Given the description of an element on the screen output the (x, y) to click on. 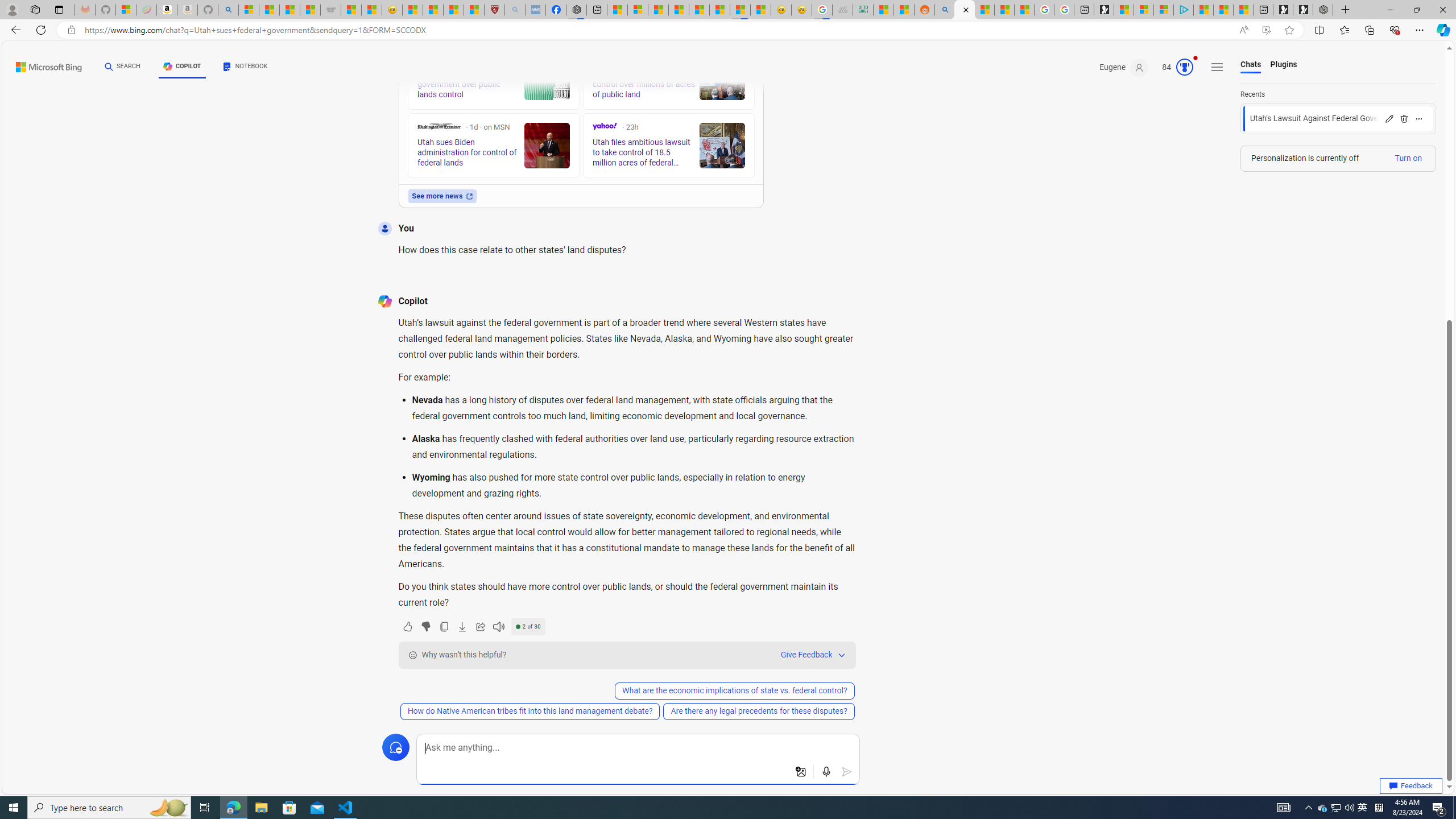
AutomationID: rh_meter (1184, 66)
These 3 Stocks Pay You More Than 5% to Own Them (1242, 9)
COPILOT (181, 68)
SEARCH (122, 66)
